Given the description of an element on the screen output the (x, y) to click on. 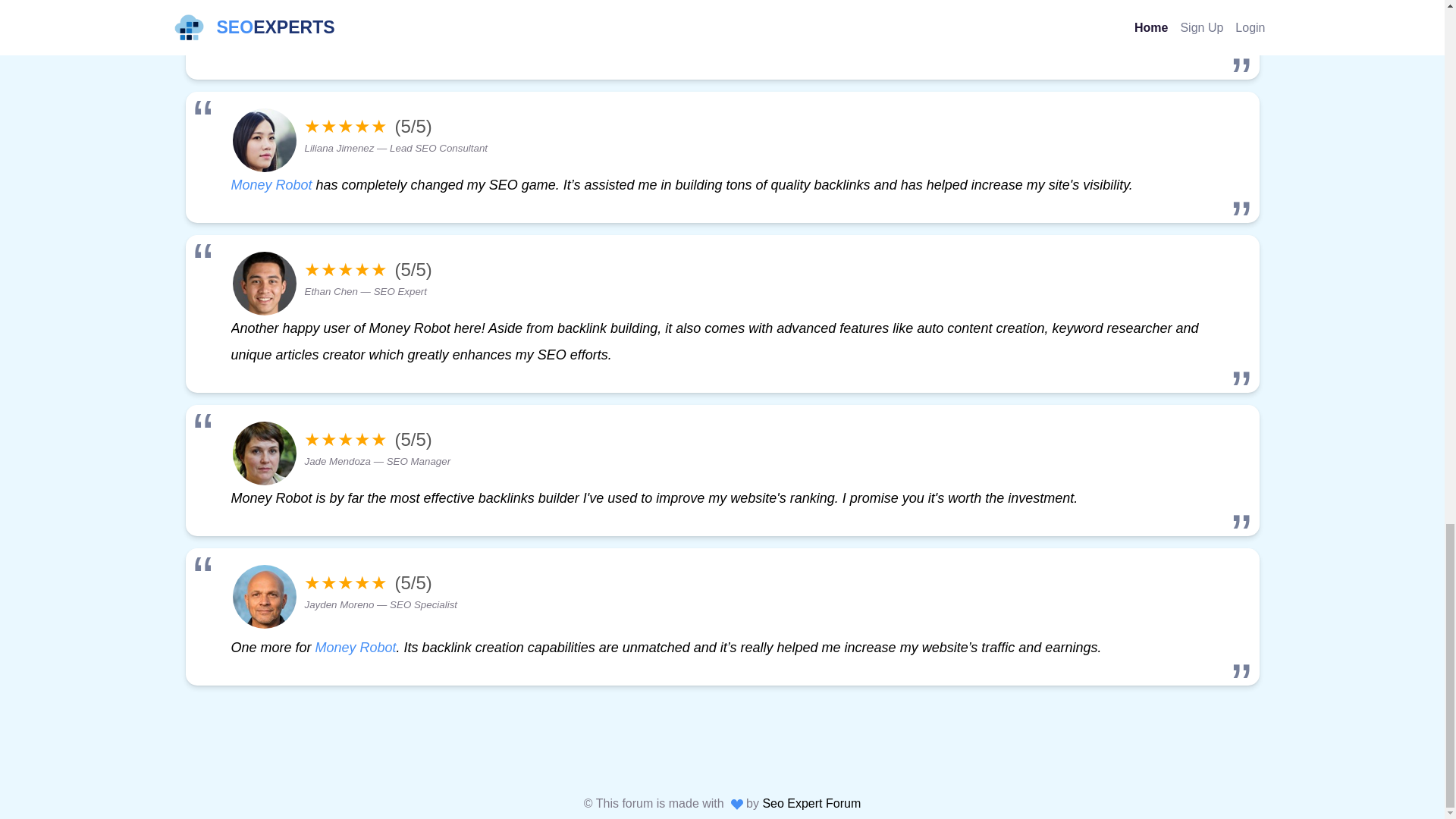
Money Robot (270, 184)
Money Robot (355, 647)
Seo Expert Forum (810, 802)
